Given the description of an element on the screen output the (x, y) to click on. 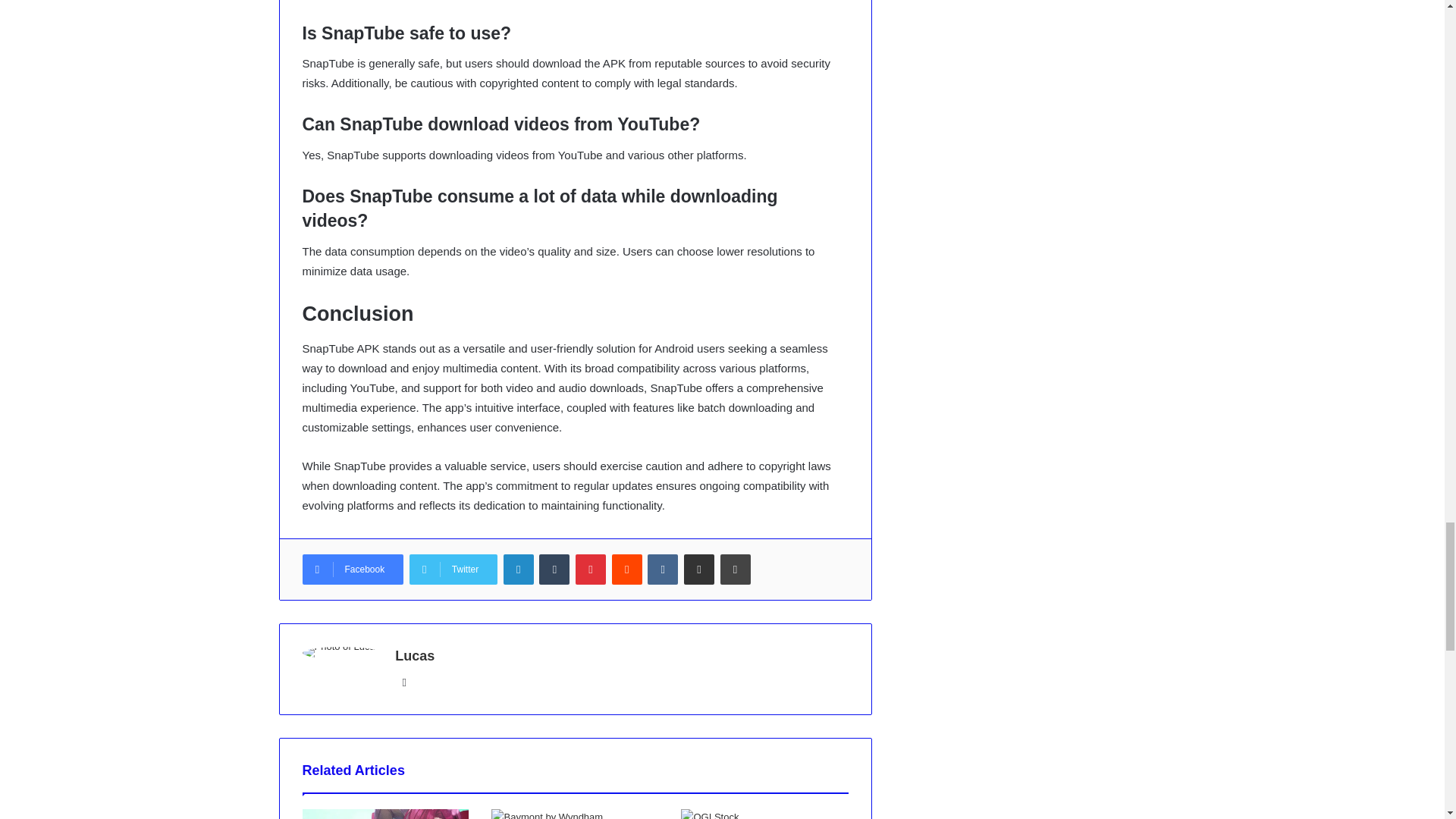
Tumblr (553, 569)
Twitter (453, 569)
Facebook (352, 569)
Share via Email (699, 569)
Tumblr (553, 569)
LinkedIn (518, 569)
Print (735, 569)
Pinterest (590, 569)
VKontakte (662, 569)
Pinterest (590, 569)
